Given the description of an element on the screen output the (x, y) to click on. 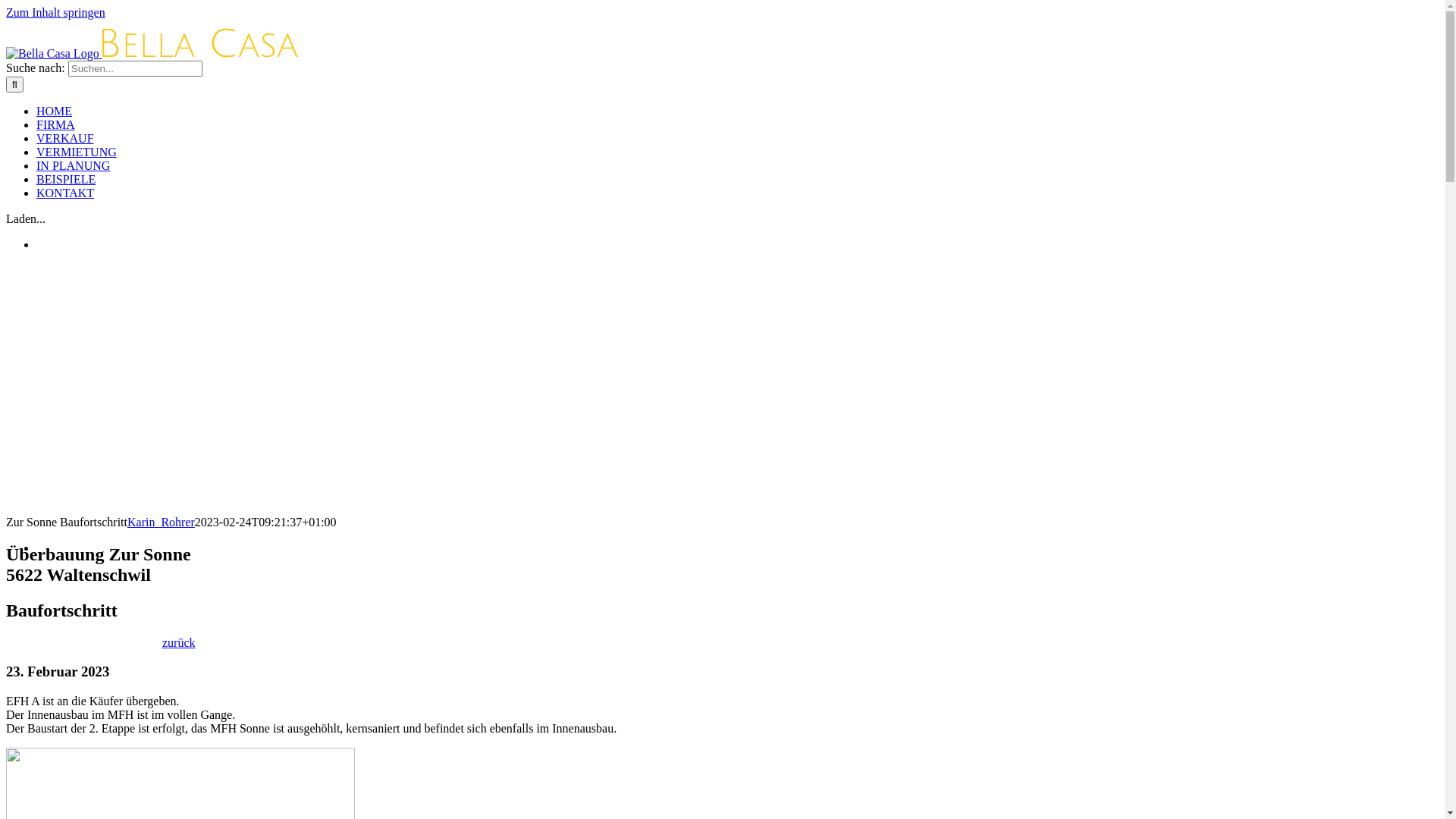
VERKAUF Element type: text (65, 137)
IN PLANUNG Element type: text (72, 165)
KONTAKT Element type: text (65, 192)
VERMIETUNG Element type: text (76, 151)
BEISPIELE Element type: text (65, 178)
Zum Inhalt springen Element type: text (55, 12)
FIRMA Element type: text (55, 124)
HOME Element type: text (54, 110)
Karin_Rohrer Element type: text (160, 521)
